Given the description of an element on the screen output the (x, y) to click on. 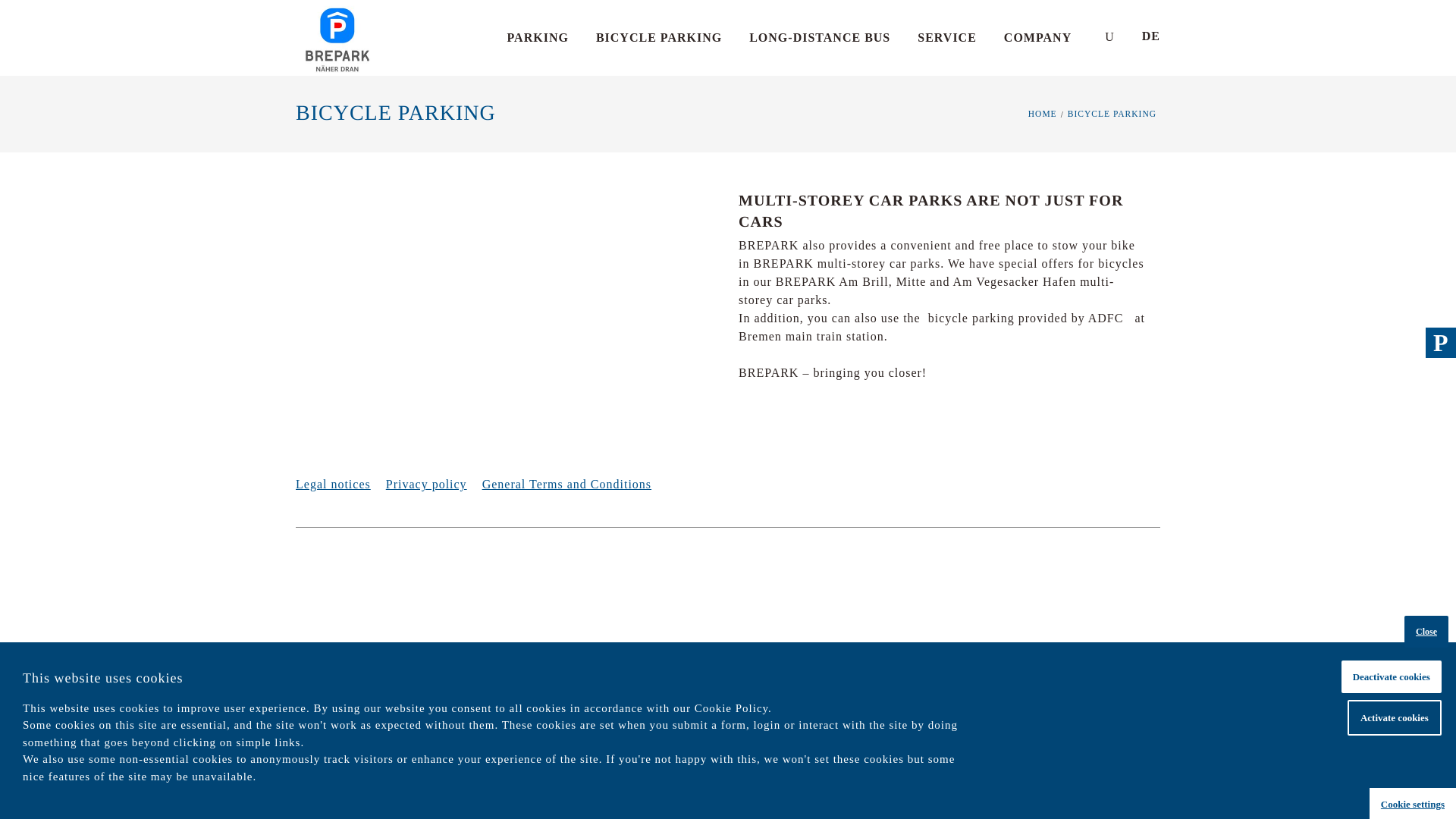
PARKING (537, 33)
Parking (537, 33)
BICYCLE PARKING (658, 33)
to the home page (337, 38)
